Given the description of an element on the screen output the (x, y) to click on. 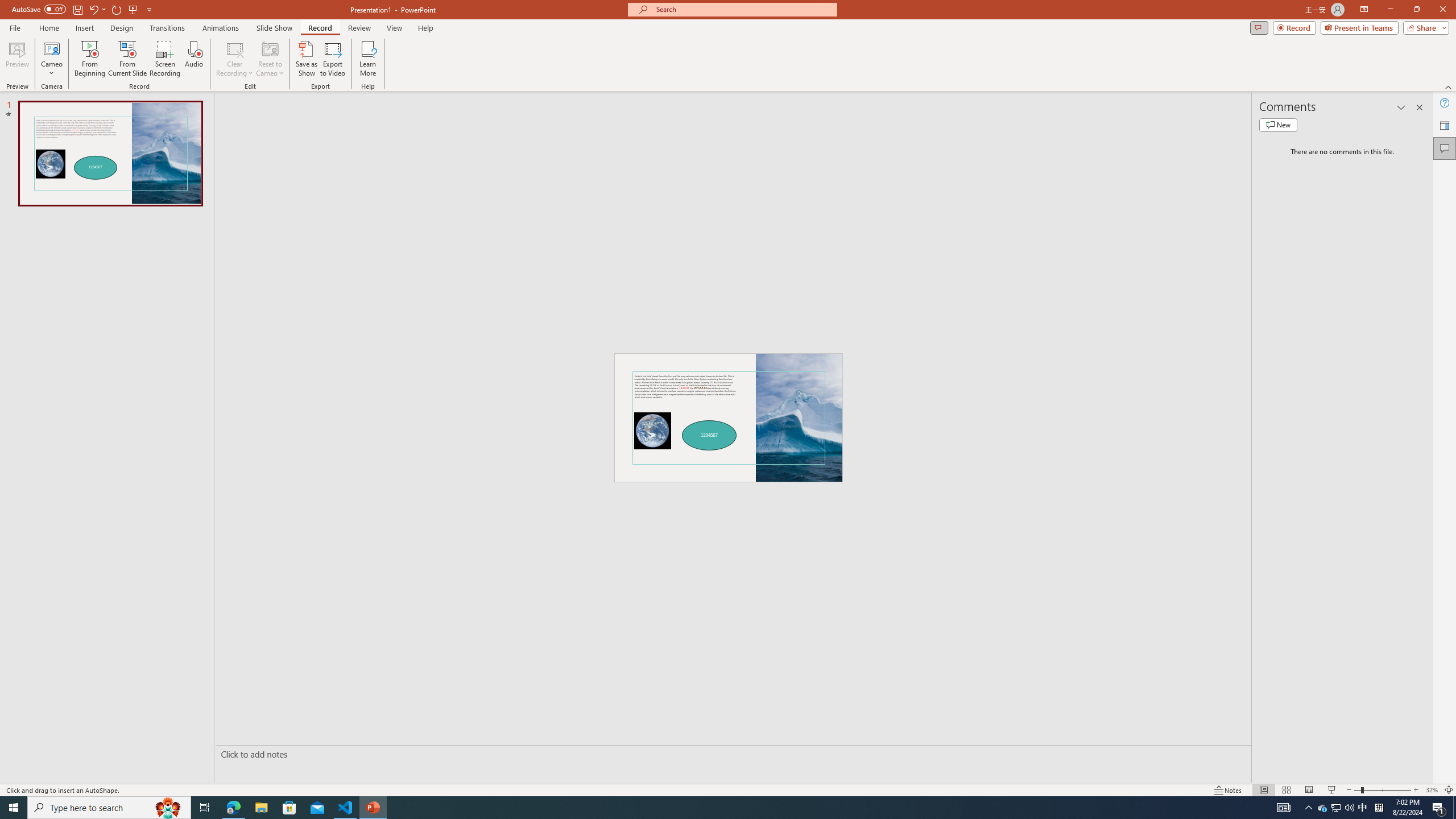
Screen Recording (165, 58)
Learn More (368, 58)
Cameo (51, 58)
From Beginning... (89, 58)
Zoom 32% (1431, 790)
Audio (193, 58)
Reset to Cameo (269, 58)
